Given the description of an element on the screen output the (x, y) to click on. 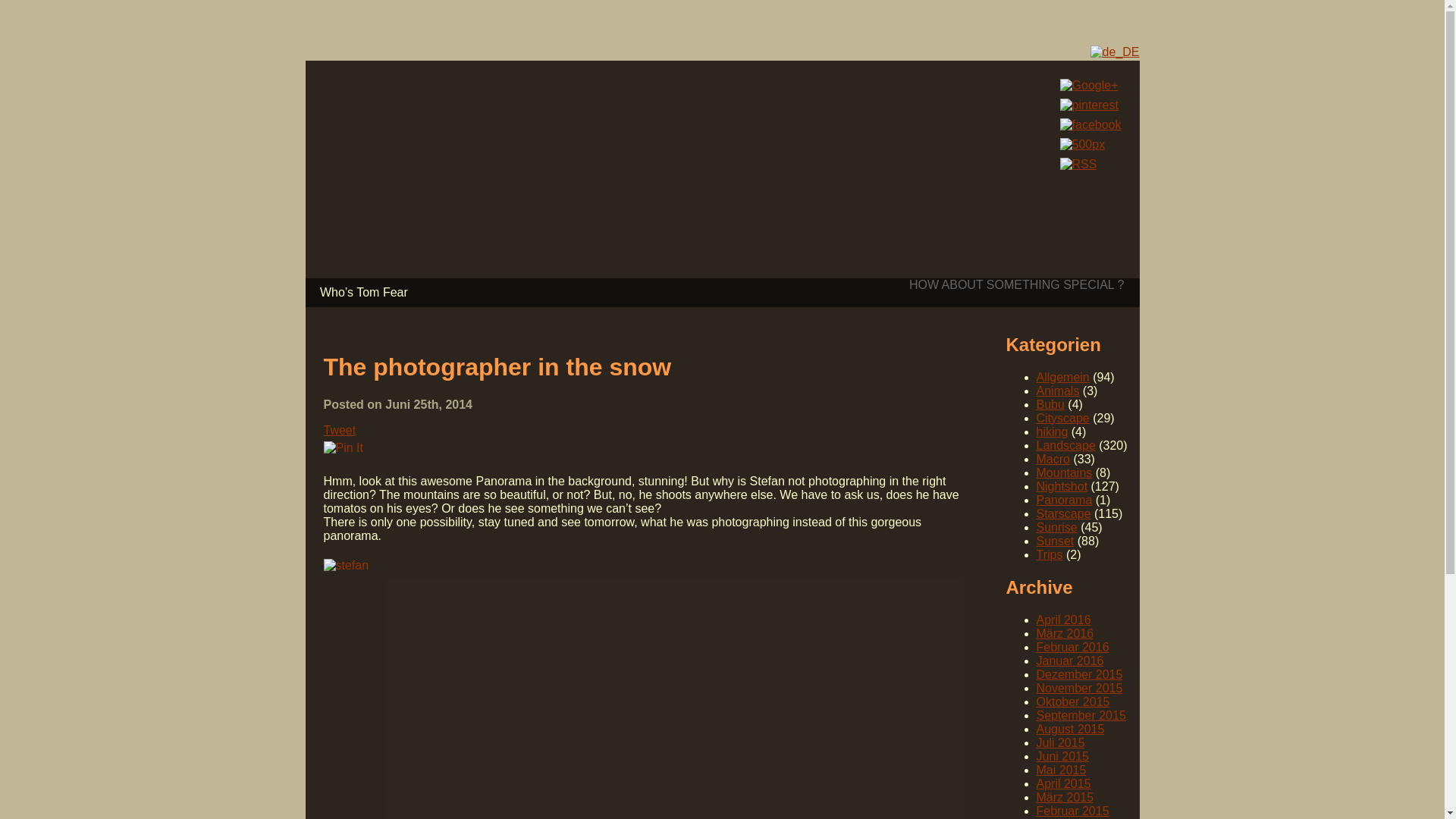
RSS 2.0 (1090, 164)
April 2016 (1062, 619)
Februar 2016 (1071, 646)
Trips (1048, 554)
Cityscape (1062, 418)
Mountains (1063, 472)
Nightshot (1061, 486)
Bubu (1049, 404)
Sunset (1054, 540)
Landscape (1064, 445)
Mai 2015 (1060, 769)
Panorama (1063, 499)
Tweet (339, 430)
Juni 2015 (1061, 756)
September 2015 (1080, 715)
